Given the description of an element on the screen output the (x, y) to click on. 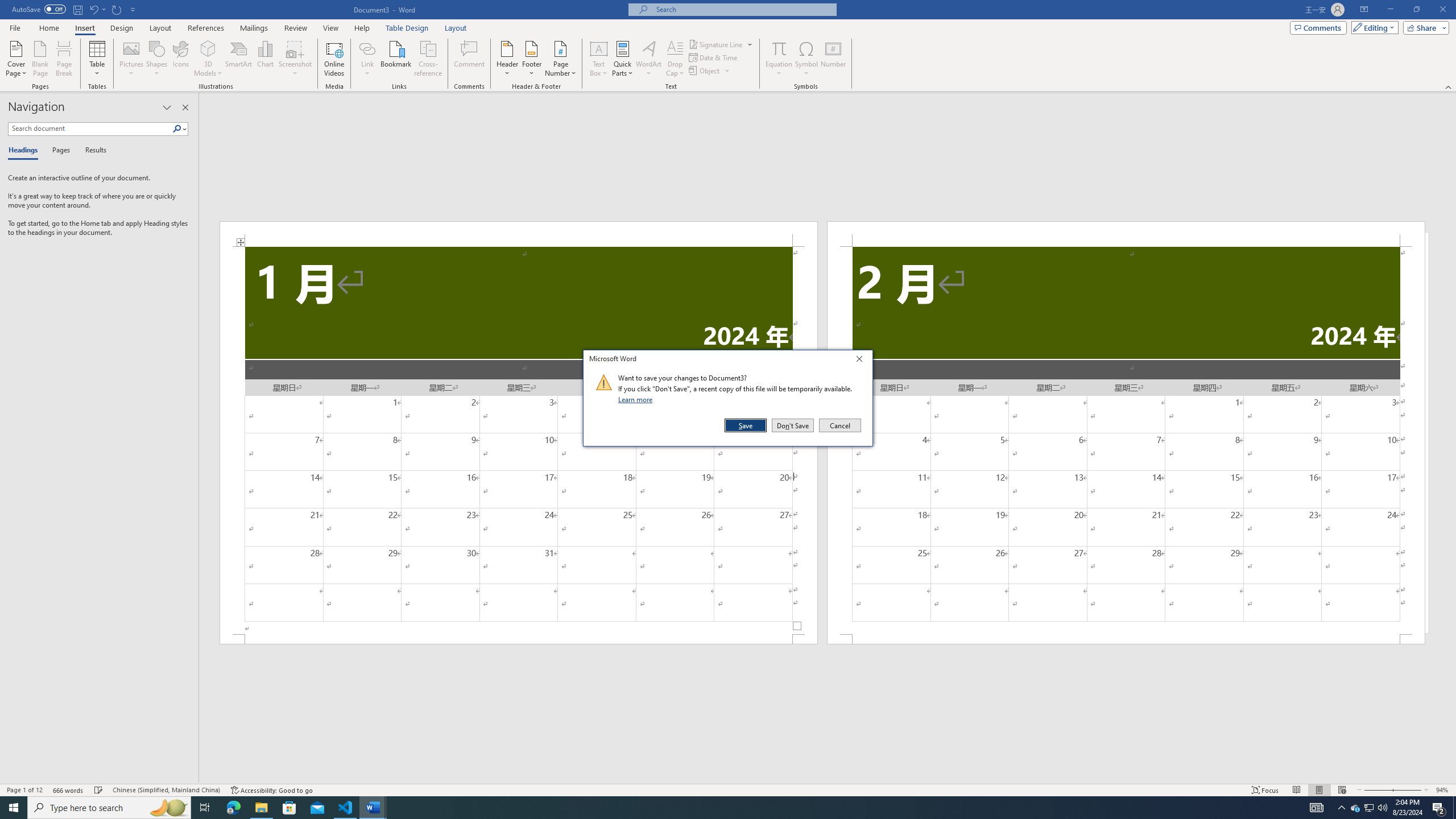
Running applications (717, 807)
Blank Page (40, 58)
Object... (705, 69)
